Given the description of an element on the screen output the (x, y) to click on. 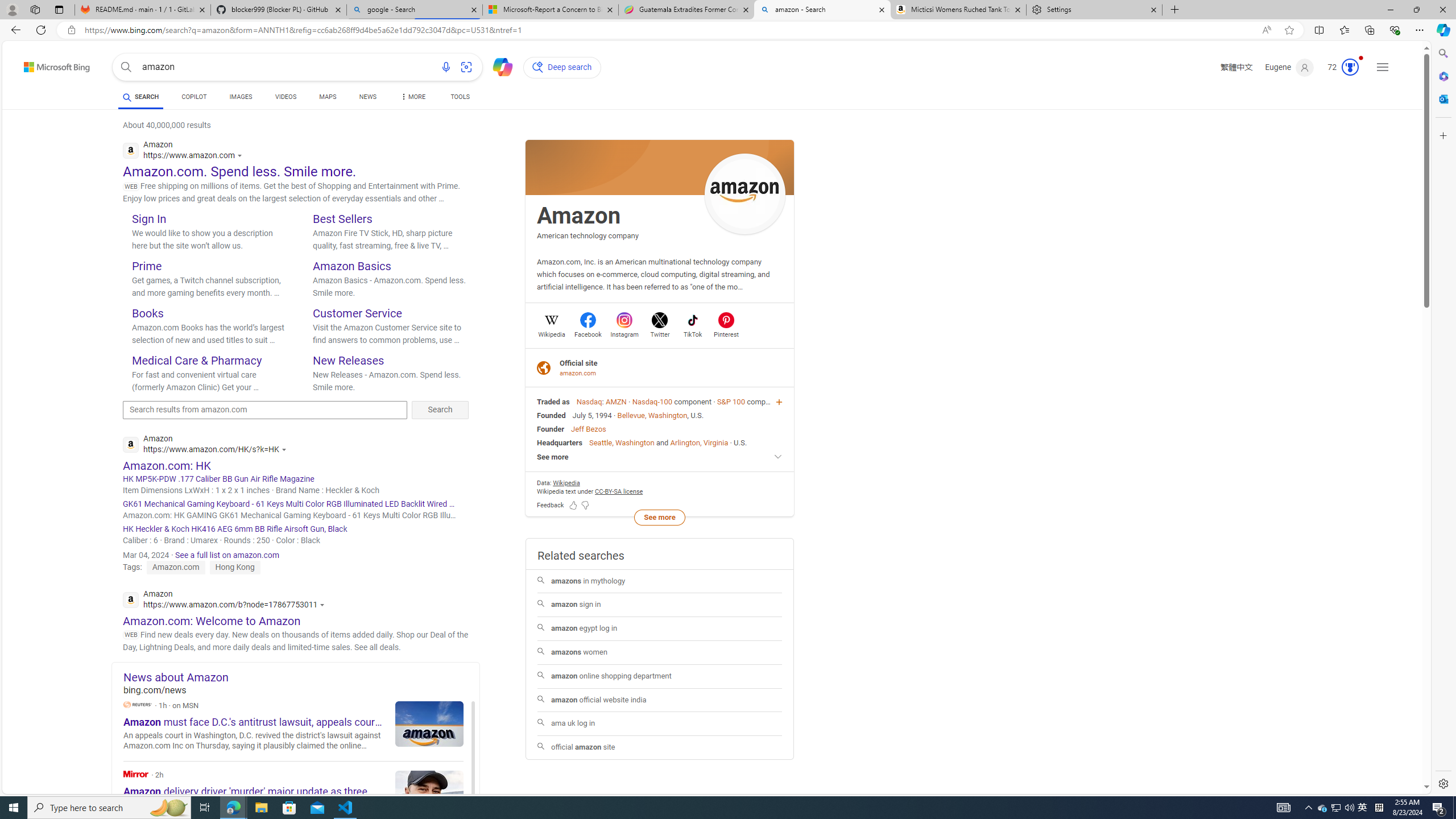
MORE (412, 98)
Amazon Basics (352, 265)
Search using an image (465, 66)
Animation (1360, 57)
News about Amazon (301, 677)
bing.com/news (301, 689)
TOOLS (460, 98)
